Given the description of an element on the screen output the (x, y) to click on. 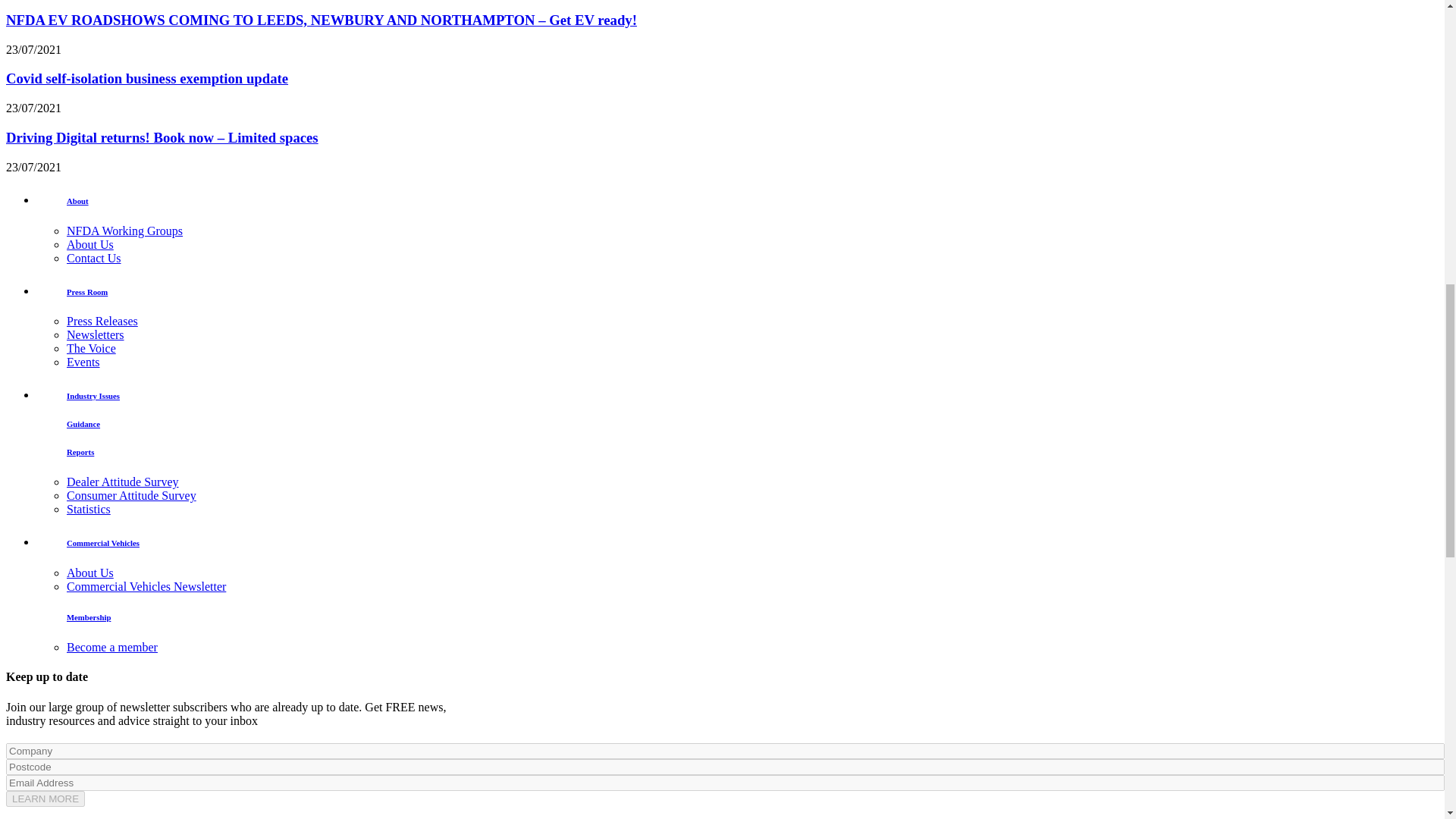
Covid self-isolation business exemption update (146, 78)
